Given the description of an element on the screen output the (x, y) to click on. 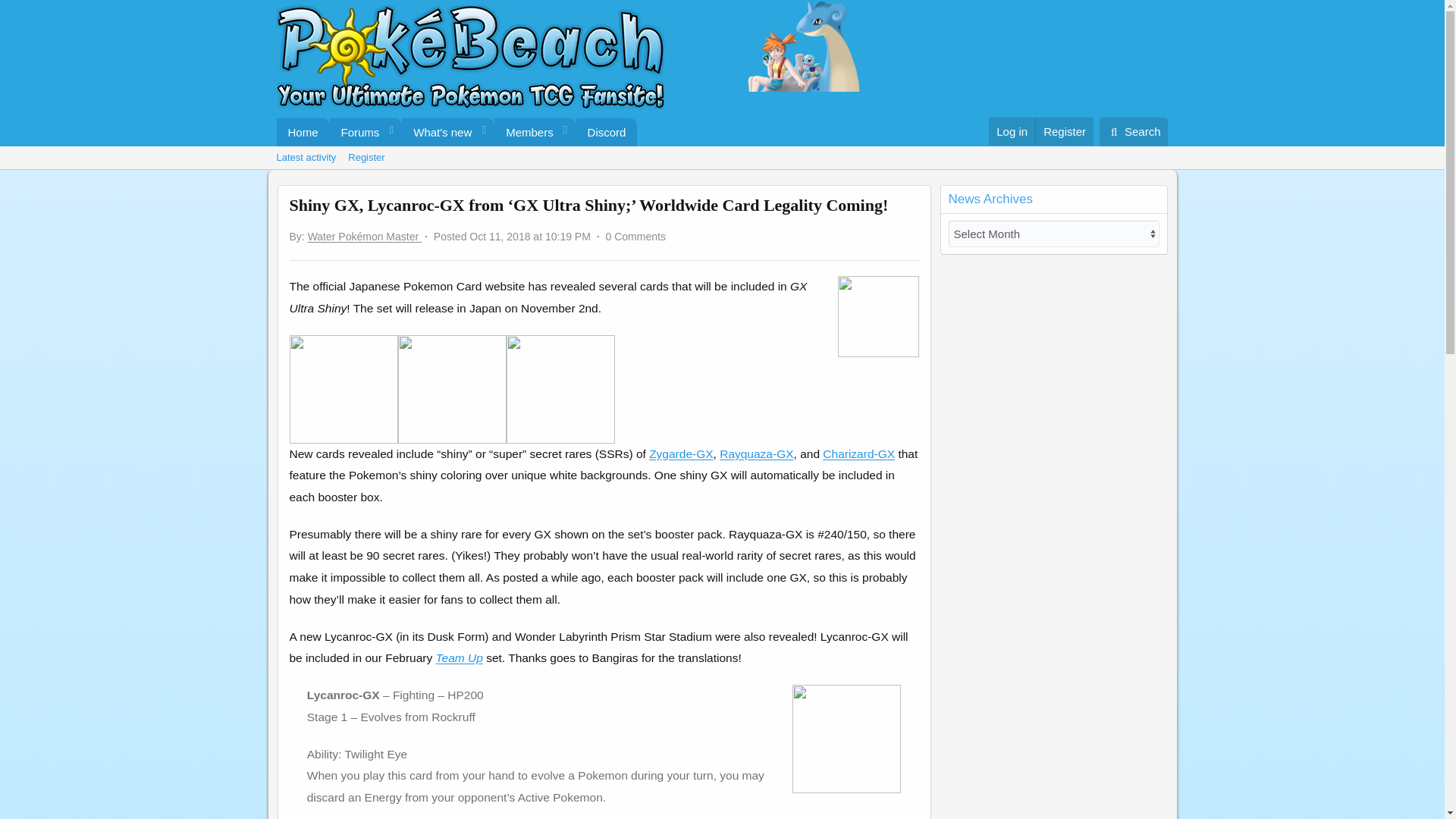
Members (524, 131)
Search (1134, 131)
Register (1064, 131)
Oct 11, 2018 at 10:19 PM (529, 236)
Forums (456, 131)
Discord (721, 157)
Search (355, 131)
0 Comments (606, 131)
